Given the description of an element on the screen output the (x, y) to click on. 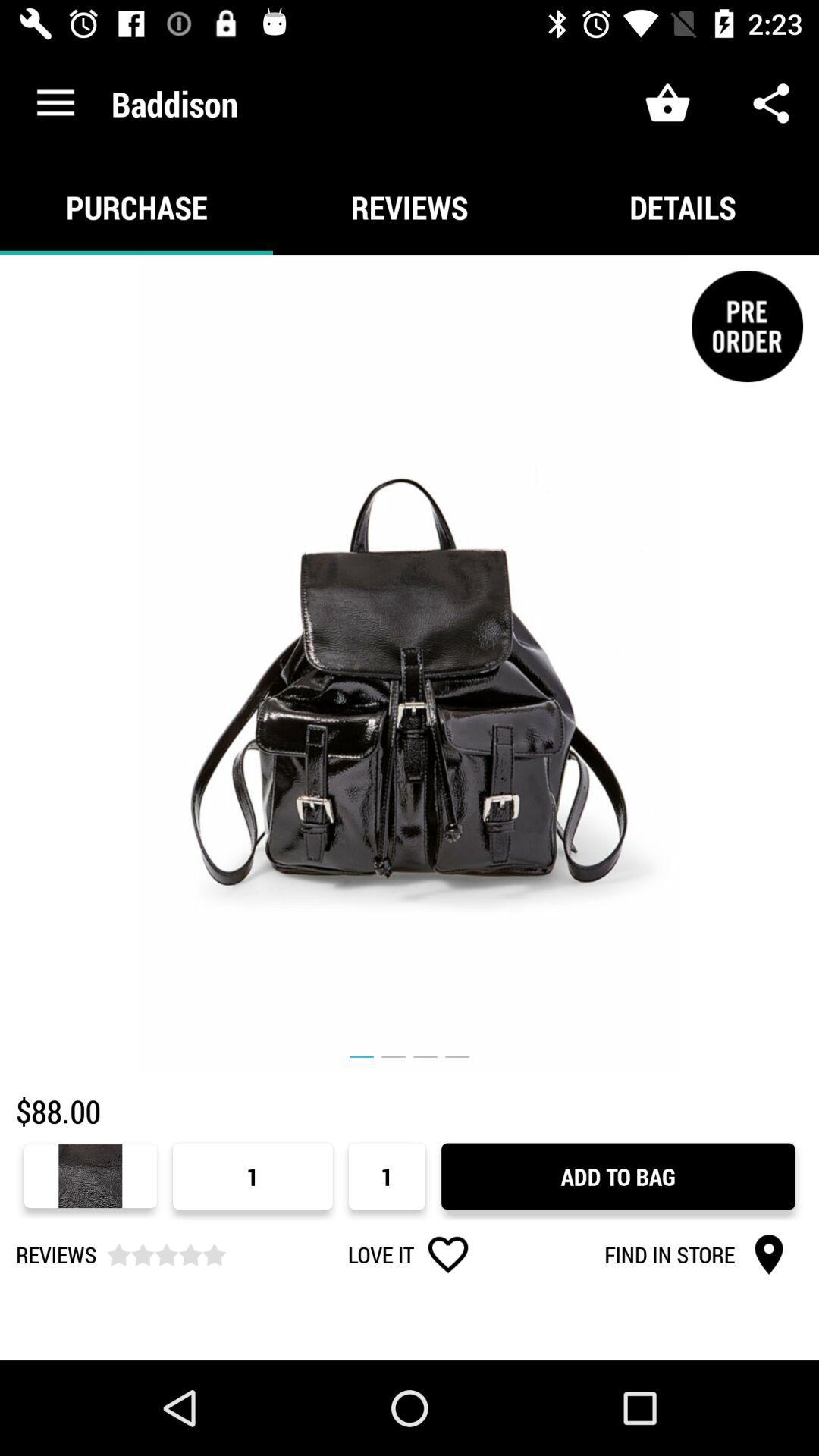
click the icon to the left of the baddison (55, 103)
